Given the description of an element on the screen output the (x, y) to click on. 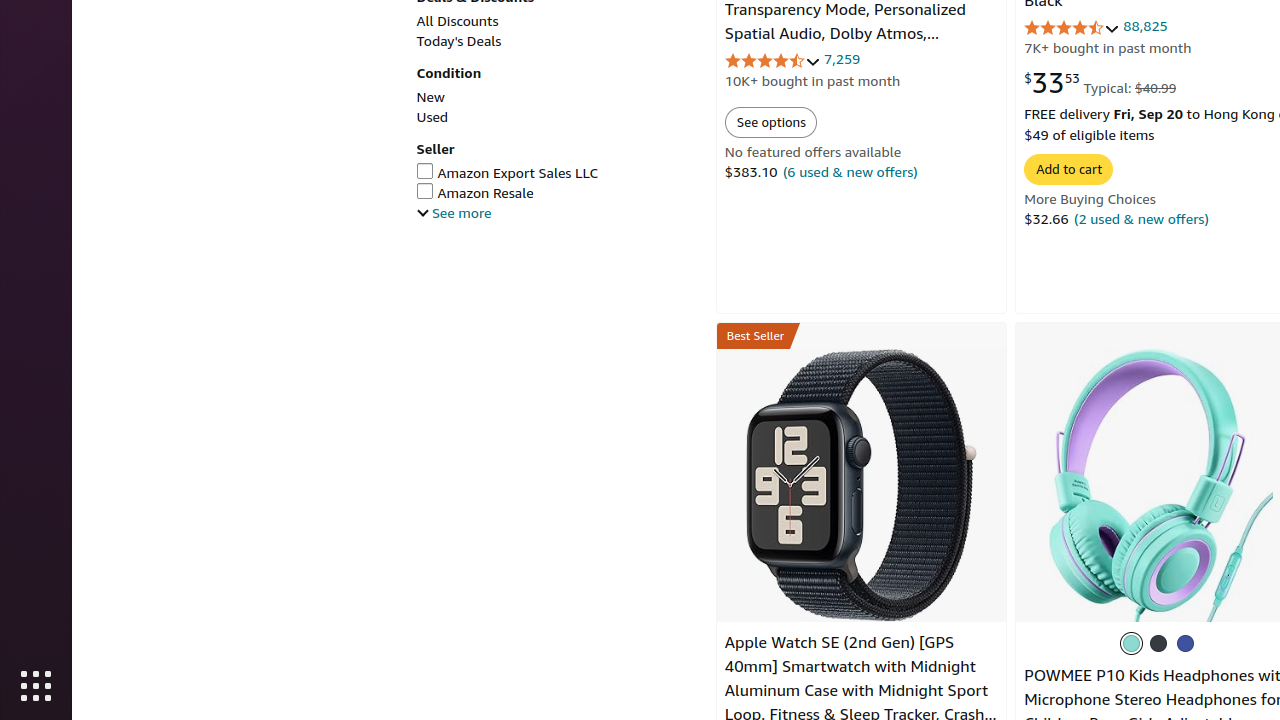
Apple Watch SE (2nd Gen) [GPS 40mm] Smartwatch with Midnight Aluminum Case with Midnight Sport Loop. Fitness & Sleep Track... Element type: link (861, 485)
Amazon Export Sales LLC Element type: list-item (556, 173)
Add to cart Element type: push-button (1069, 169)
88,825 Element type: link (1145, 26)
Used Element type: link (432, 116)
